Given the description of an element on the screen output the (x, y) to click on. 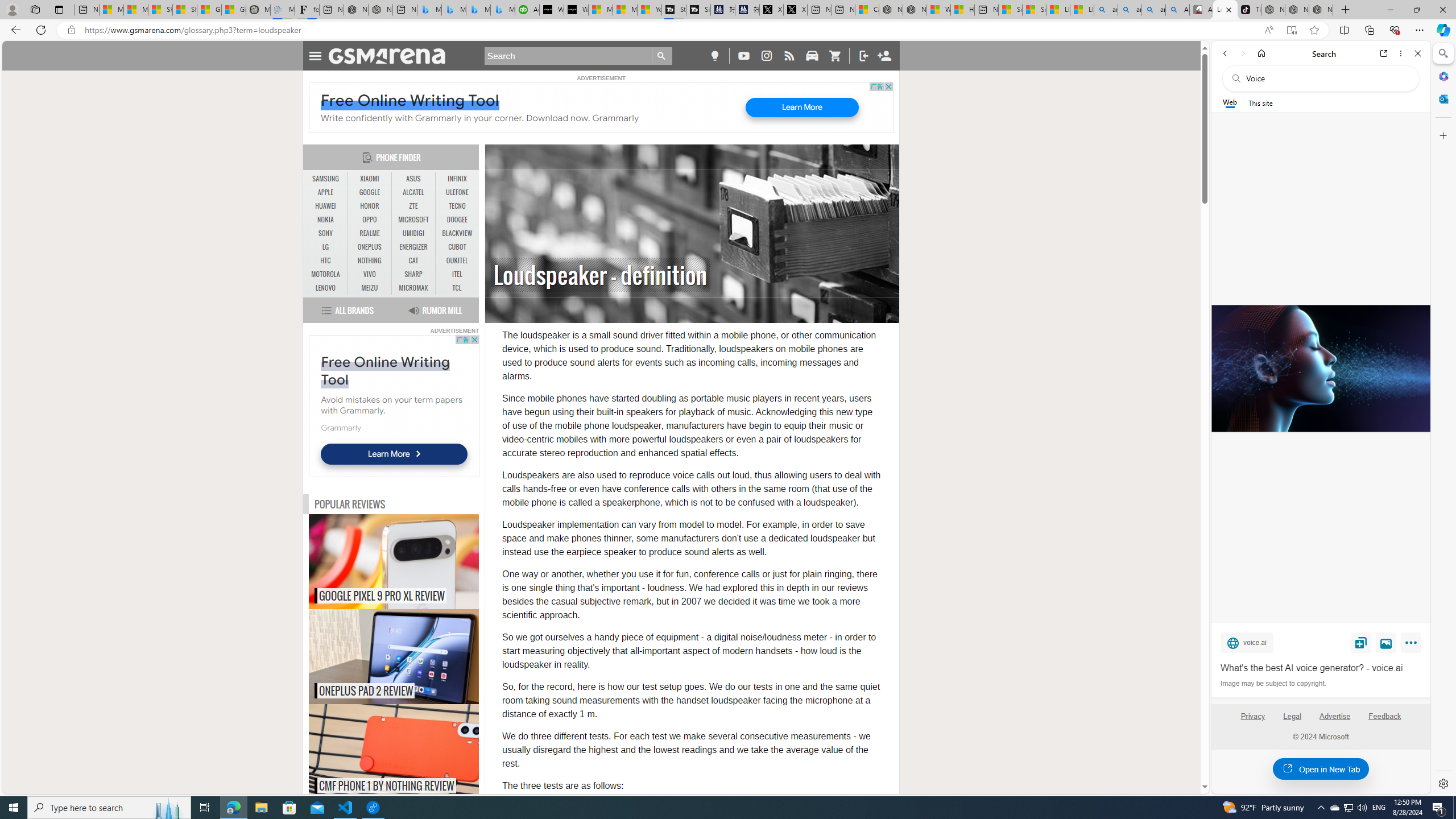
voice.ai (1247, 642)
Toggle Navigation (314, 53)
ZTE (413, 206)
NOKIA (325, 219)
CUBOT (457, 246)
This site scope (1259, 102)
Search the web (1326, 78)
